Given the description of an element on the screen output the (x, y) to click on. 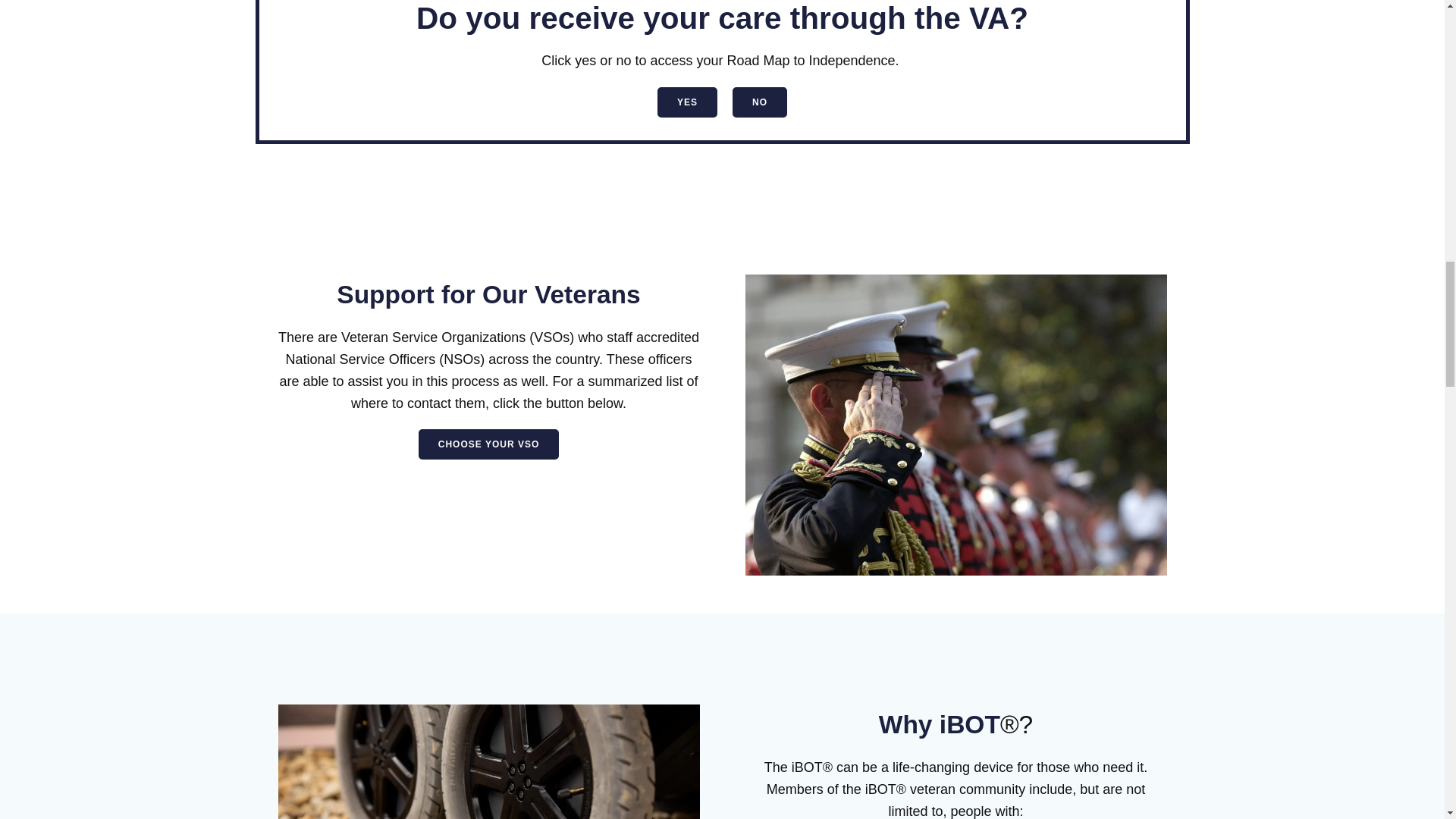
YES (687, 101)
CHOOSE YOUR VSO (489, 444)
NO (759, 101)
